Given the description of an element on the screen output the (x, y) to click on. 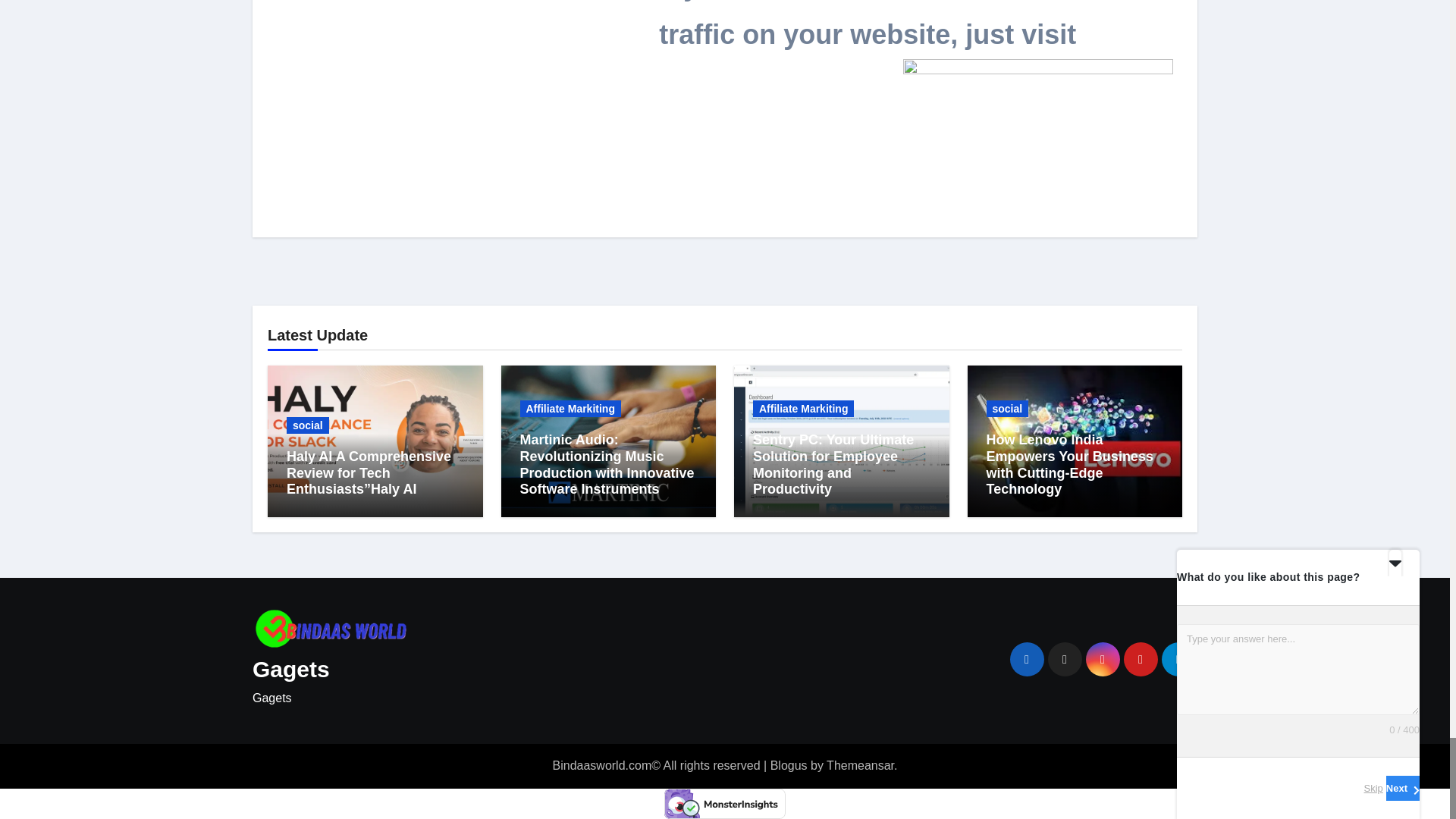
social (307, 425)
